Given the description of an element on the screen output the (x, y) to click on. 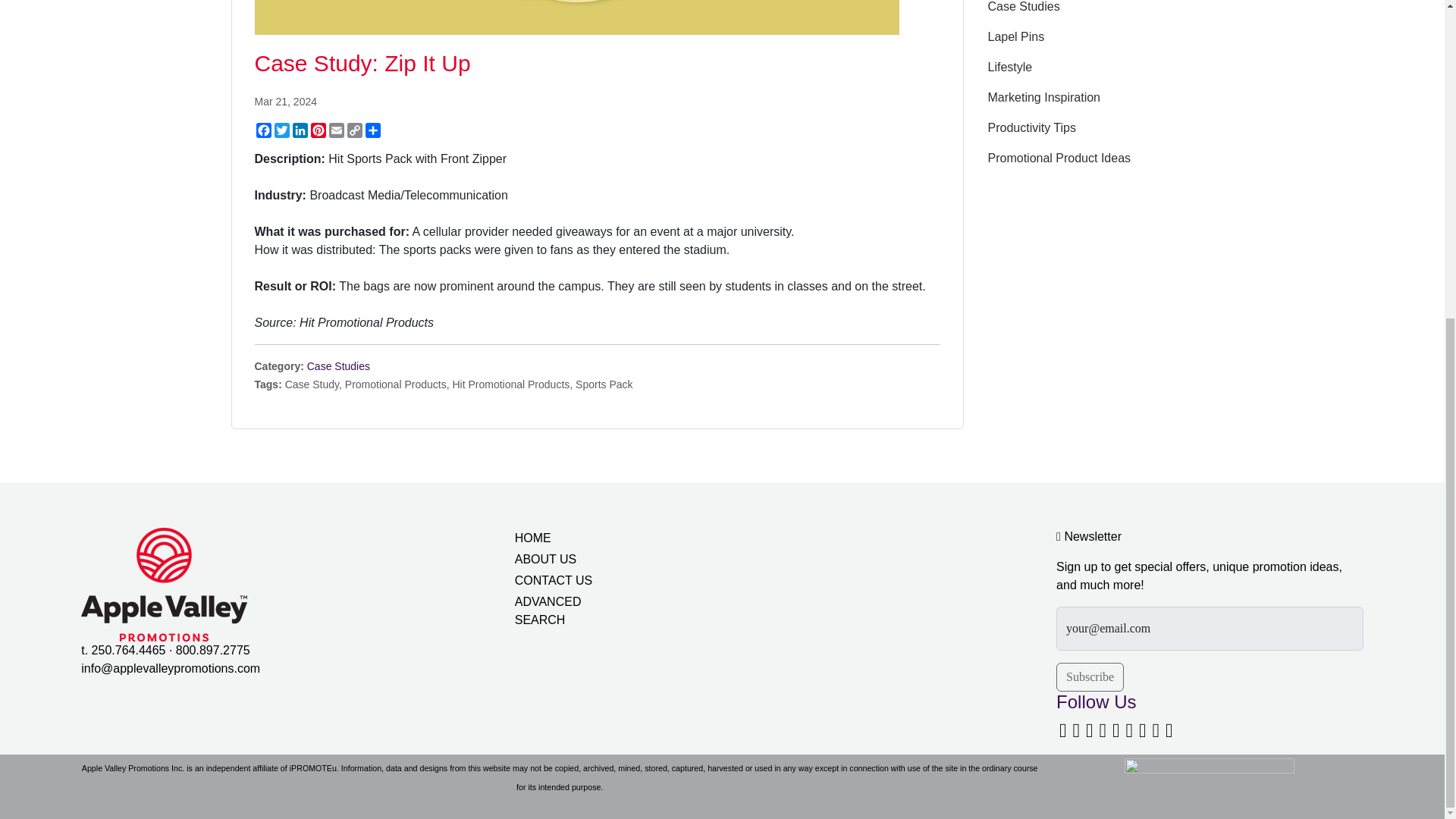
Subscribe (1090, 676)
